Given the description of an element on the screen output the (x, y) to click on. 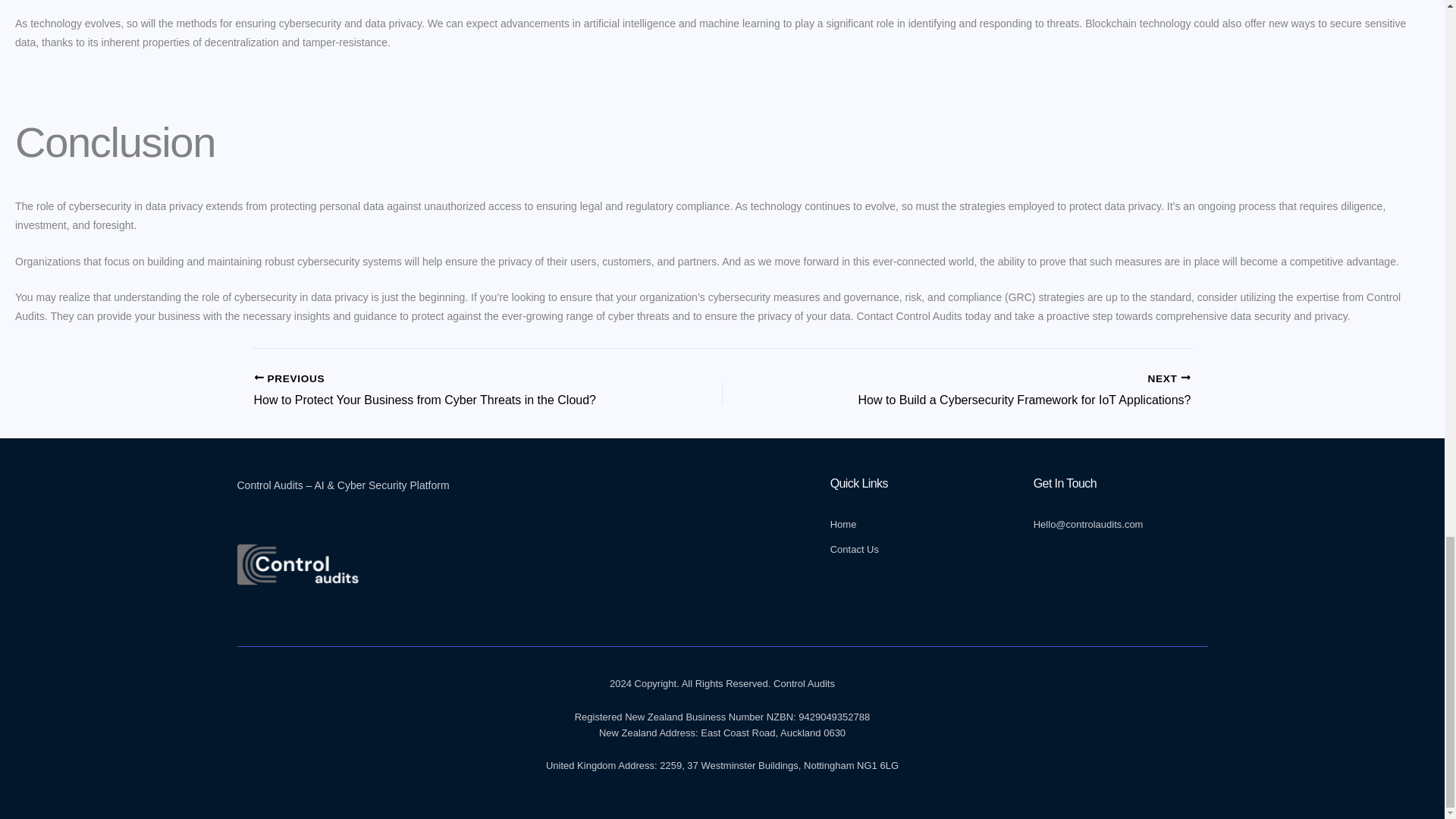
How to Build a Cybersecurity Framework for IoT Applications? (1002, 391)
Home (916, 524)
Contact Us (916, 549)
